Given the description of an element on the screen output the (x, y) to click on. 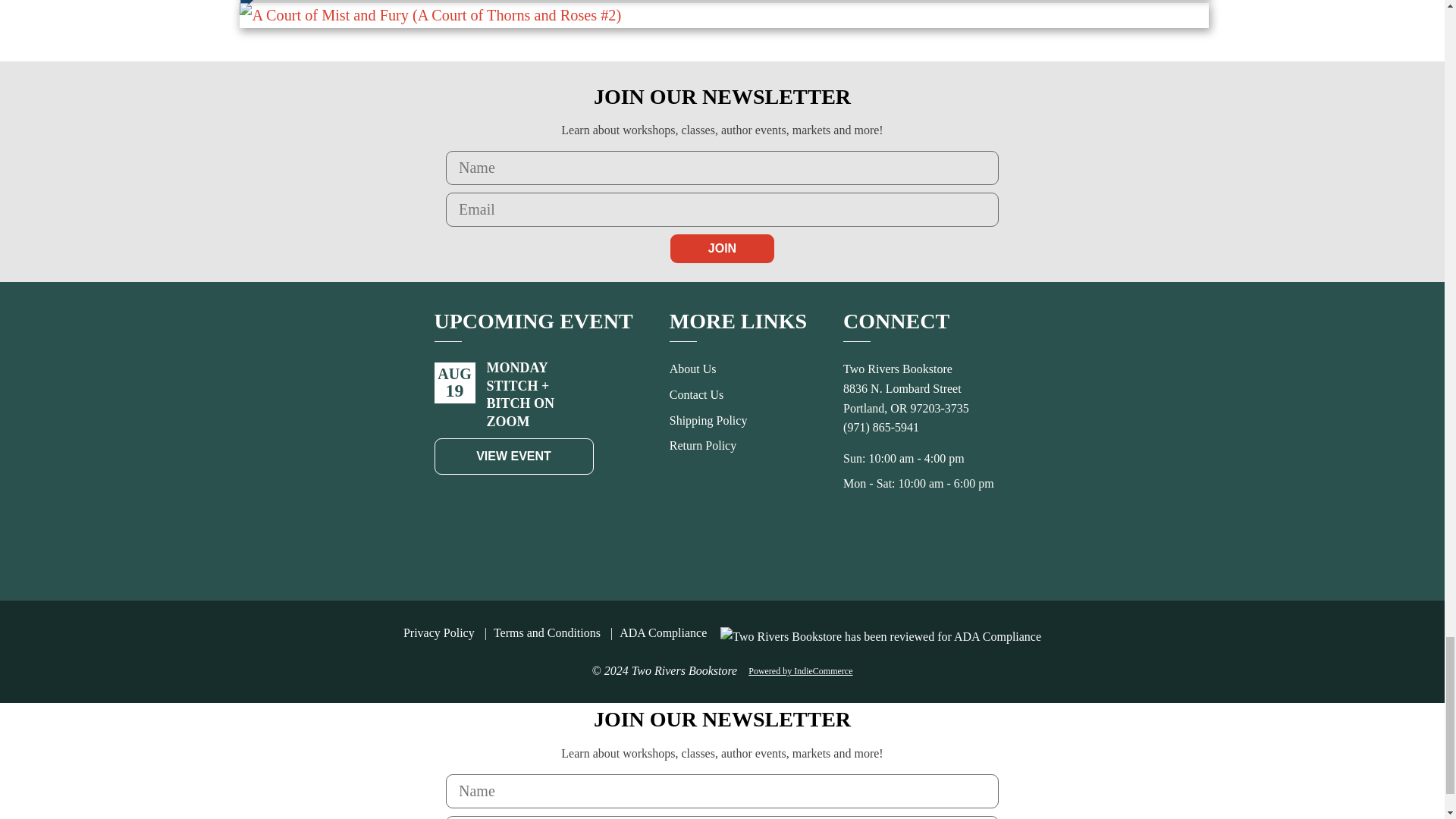
Connect with Instagram (943, 547)
Connect with Facebook (909, 547)
Join (721, 248)
